Given the description of an element on the screen output the (x, y) to click on. 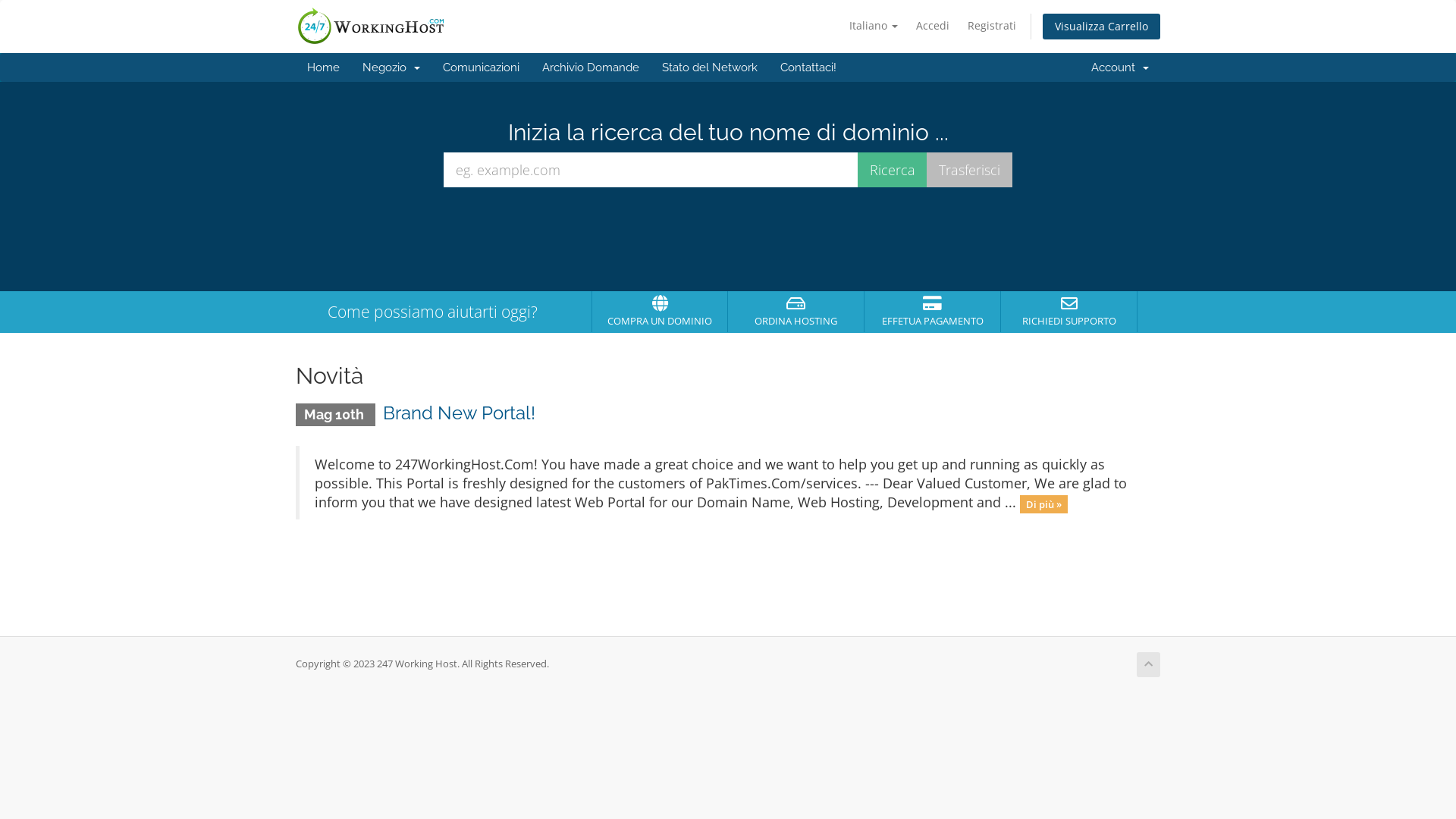
Home Element type: text (323, 67)
Richiesto Element type: hover (650, 169)
ORDINA HOSTING Element type: text (795, 311)
Archivio Domande Element type: text (590, 67)
Registrati Element type: text (991, 25)
Accedi Element type: text (932, 25)
Brand New Portal! Element type: text (458, 412)
COMPRA UN DOMINIO Element type: text (659, 311)
Account   Element type: text (1119, 67)
Negozio   Element type: text (391, 67)
RICHIEDI SUPPORTO Element type: text (1068, 311)
Comunicazioni Element type: text (480, 67)
Visualizza Carrello Element type: text (1101, 26)
Contattaci! Element type: text (807, 67)
Italiano Element type: text (873, 25)
EFFETUA PAGAMENTO Element type: text (931, 311)
Trasferisci Element type: text (969, 169)
Ricerca Element type: text (892, 169)
Stato del Network Element type: text (709, 67)
